Given the description of an element on the screen output the (x, y) to click on. 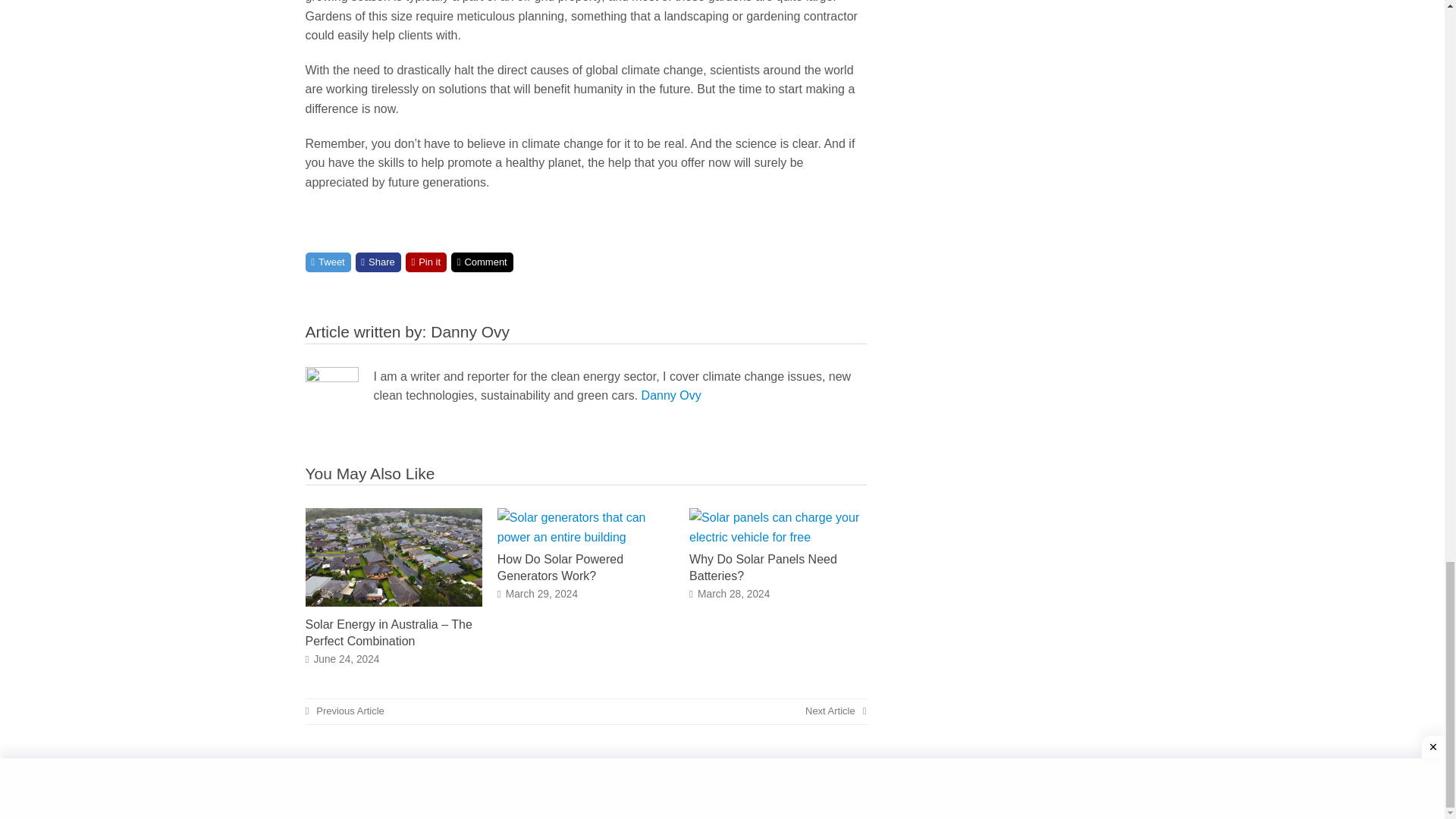
How Do Solar Powered Generators Work? (585, 536)
How Do Solar Powered Generators Work? (560, 567)
Comment (482, 261)
Why Do Solar Panels Need Batteries? (777, 536)
Share on Facebook (378, 261)
Danny Ovy (671, 395)
Previous Article (344, 710)
Next Article (835, 710)
Visit Author Page (331, 393)
Share on Pinterest (426, 261)
